Given the description of an element on the screen output the (x, y) to click on. 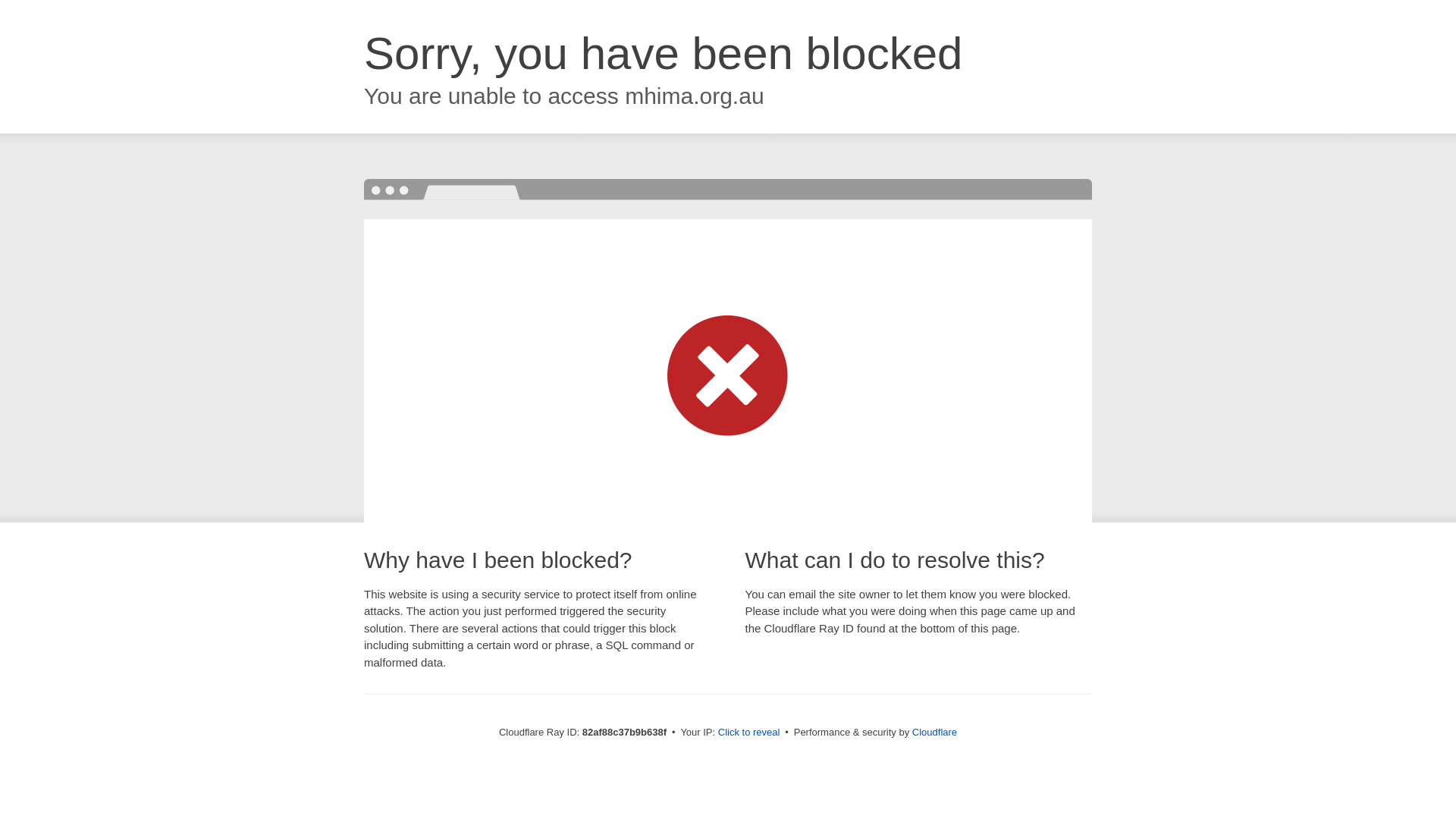
Cloudflare Element type: text (934, 731)
Click to reveal Element type: text (749, 732)
